Given the description of an element on the screen output the (x, y) to click on. 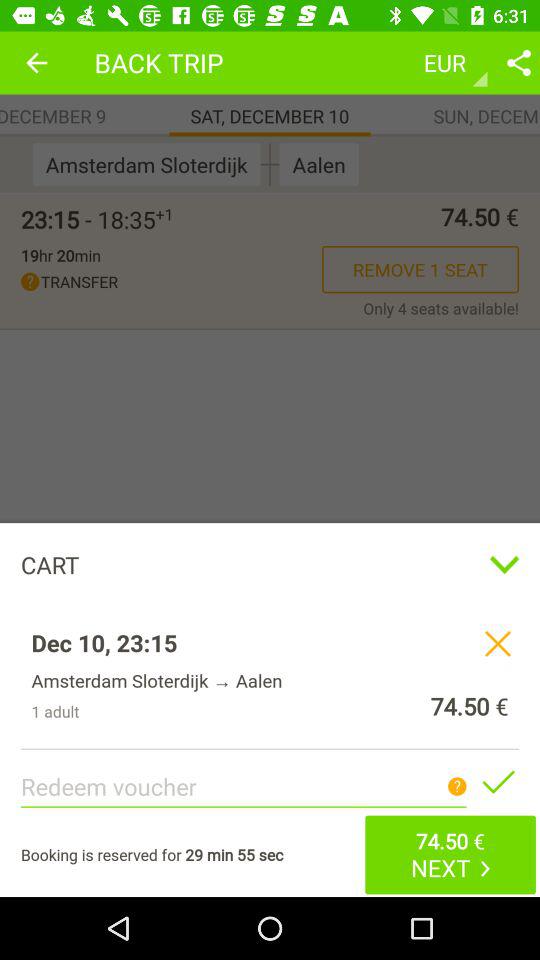
flip until the transfer item (171, 281)
